Given the description of an element on the screen output the (x, y) to click on. 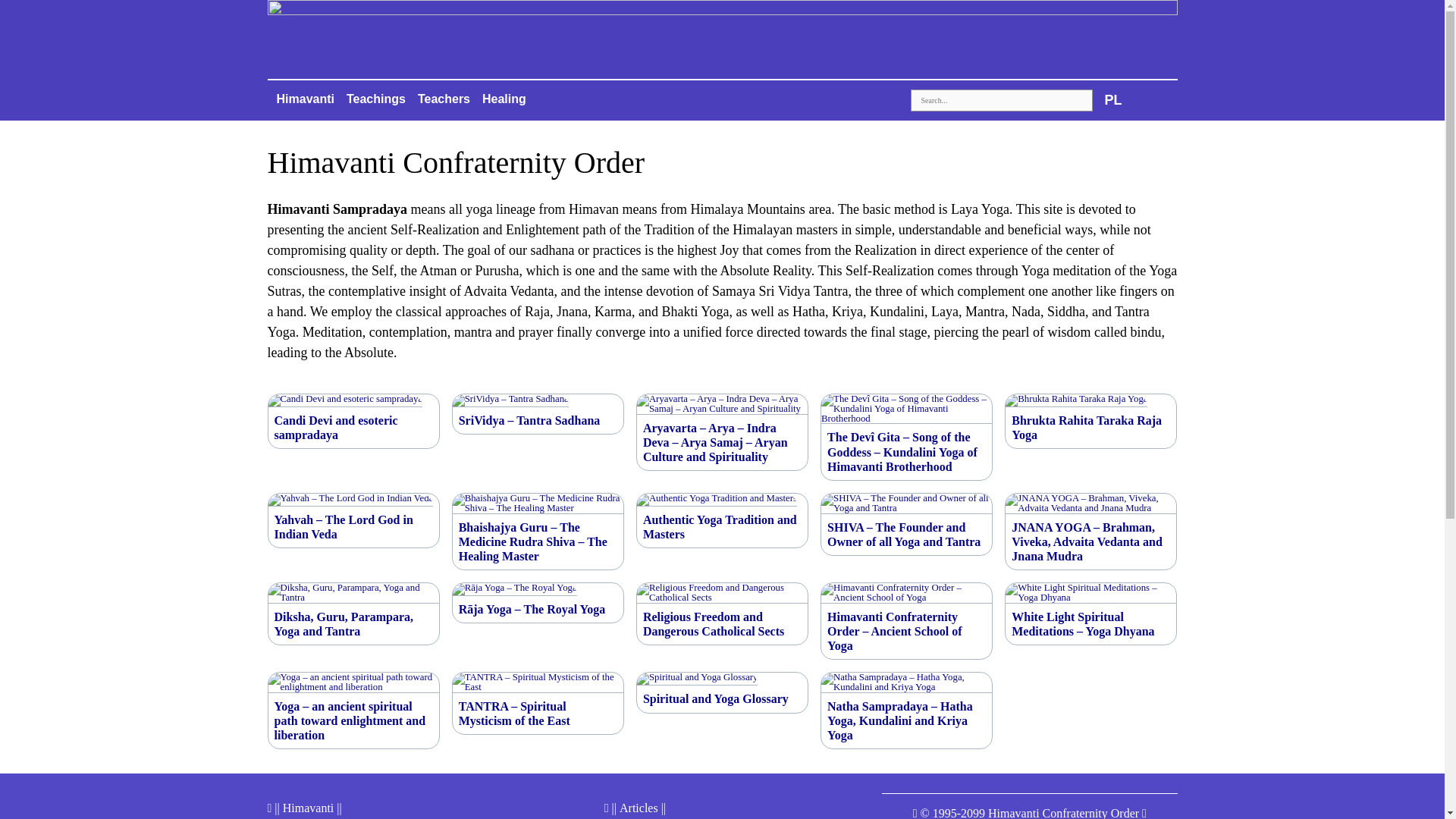
Diksha, Guru, Parampara, Yoga and Tantra (353, 623)
PL (1112, 99)
Himavanti (304, 98)
Candi Devi and esoteric sampradaya (353, 427)
Healing (503, 98)
Authentic Yoga Tradition and Masters (722, 526)
Teachings (376, 98)
Teachers (443, 98)
Bhrukta Rahita Taraka Raja Yoga (1090, 427)
Religious Freedom and Dangerous Catholical Sects (722, 623)
